Given the description of an element on the screen output the (x, y) to click on. 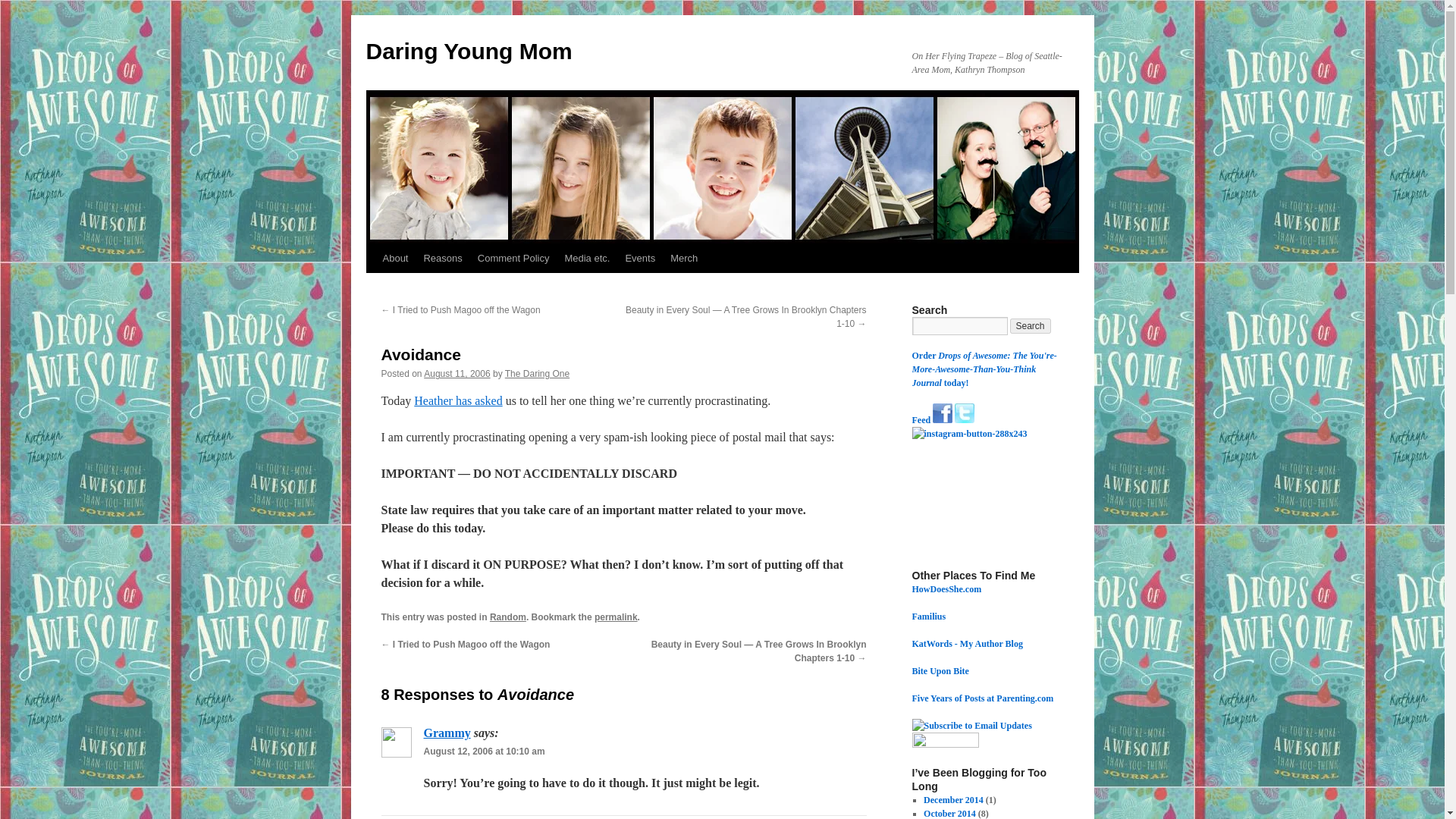
Permalink to Avoidance (615, 616)
View all posts by The Daring One (537, 373)
Reasons (441, 258)
Feed (920, 419)
HowDoesShe.com (946, 588)
Search (1030, 325)
Merch (683, 258)
Random (507, 616)
Heather has asked (457, 400)
